Given the description of an element on the screen output the (x, y) to click on. 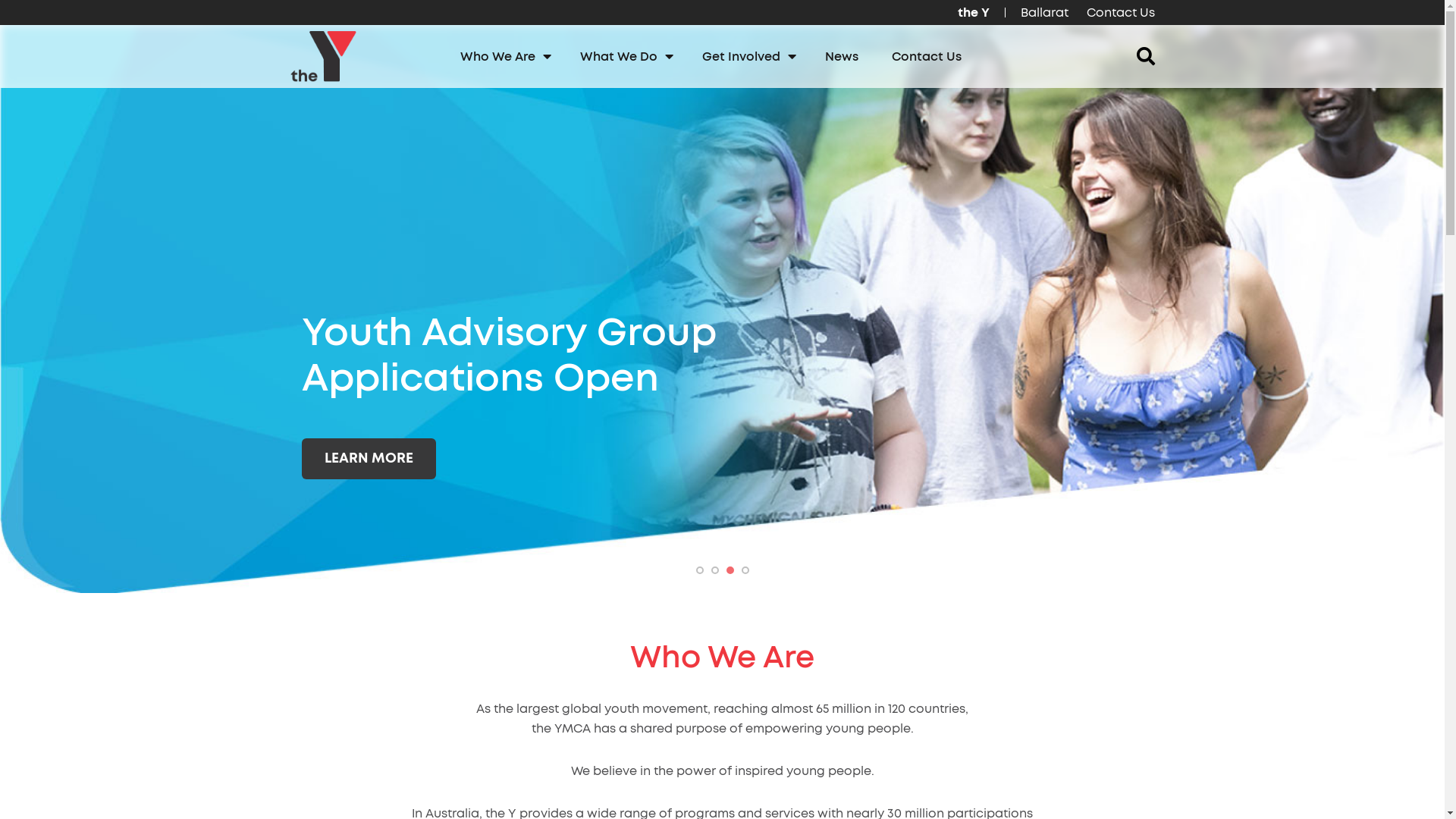
Who We Are Element type: text (503, 56)
Search Element type: text (38, 18)
Get Involved Element type: text (746, 56)
News Element type: text (841, 56)
Contact Us Element type: text (926, 56)
2 Element type: text (714, 570)
Ballarat Element type: text (1044, 12)
What We Do Element type: text (624, 56)
1 Element type: text (699, 570)
3 Element type: text (730, 570)
LEARN MORE Element type: text (368, 458)
4 Element type: text (745, 570)
Contact Us Element type: text (1116, 12)
